Given the description of an element on the screen output the (x, y) to click on. 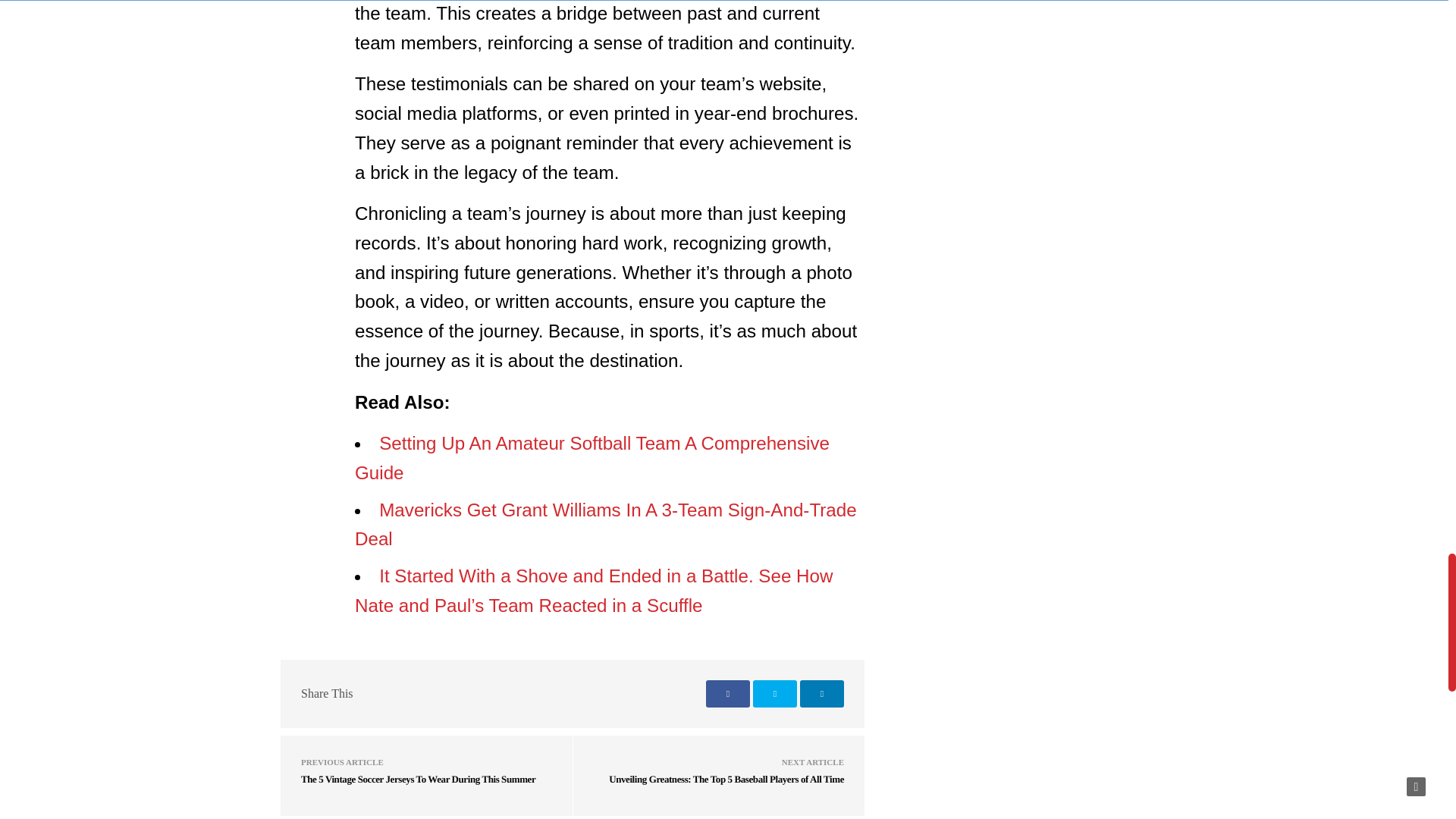
Setting Up An Amateur Softball Team A Comprehensive Guide (592, 458)
Setting Up An Amateur Softball Team A Comprehensive Guide (592, 458)
The 5 Vintage Soccer Jerseys To Wear During This Summer (418, 778)
Mavericks Get Grant Williams In A 3-Team Sign-And-Trade Deal (606, 524)
Unveiling Greatness: The Top 5 Baseball Players of All Time (726, 778)
Mavericks Get Grant Williams In A 3-Team Sign-And-Trade Deal (606, 524)
